Given the description of an element on the screen output the (x, y) to click on. 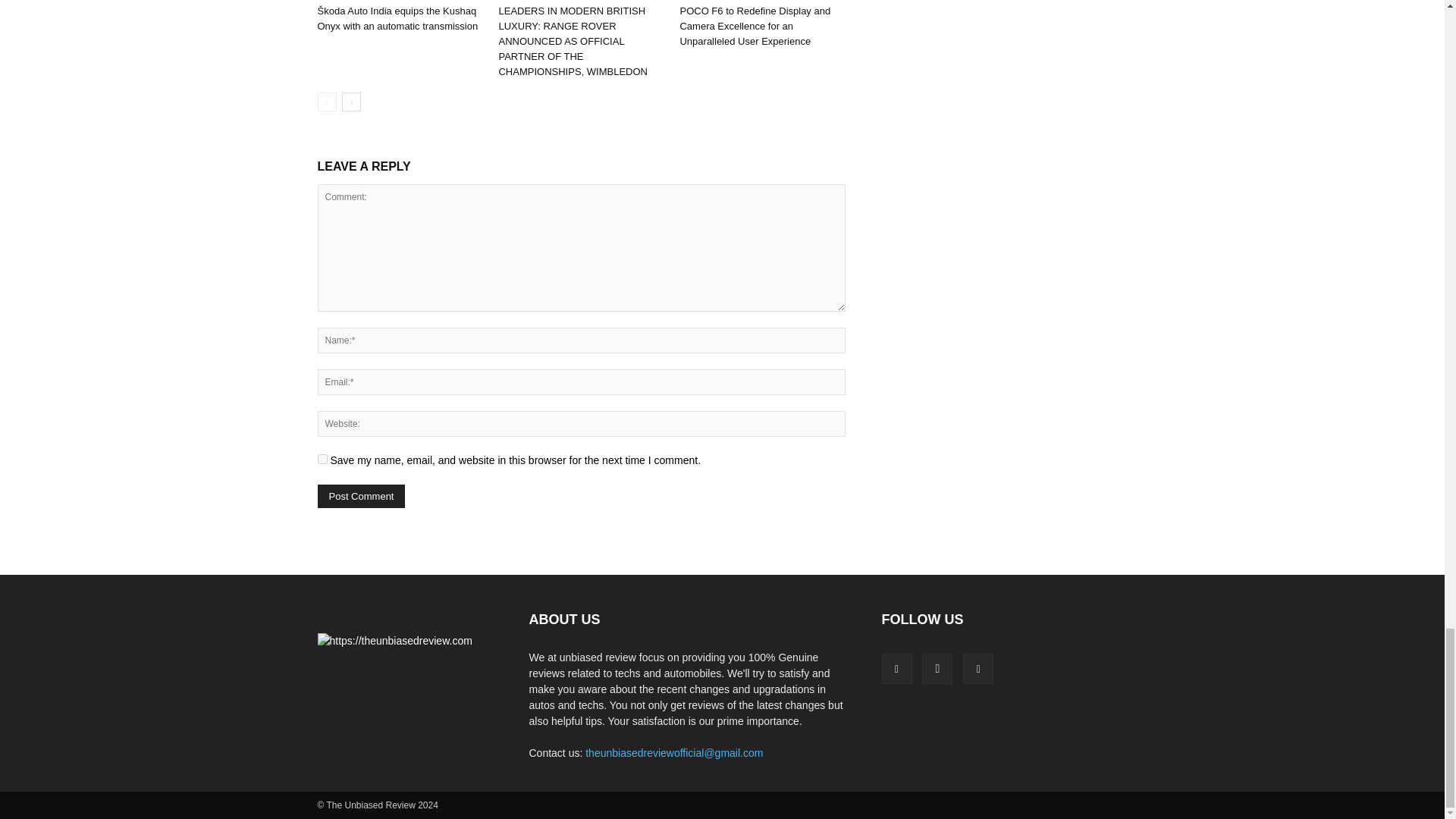
Post Comment (360, 495)
yes (321, 459)
